Given the description of an element on the screen output the (x, y) to click on. 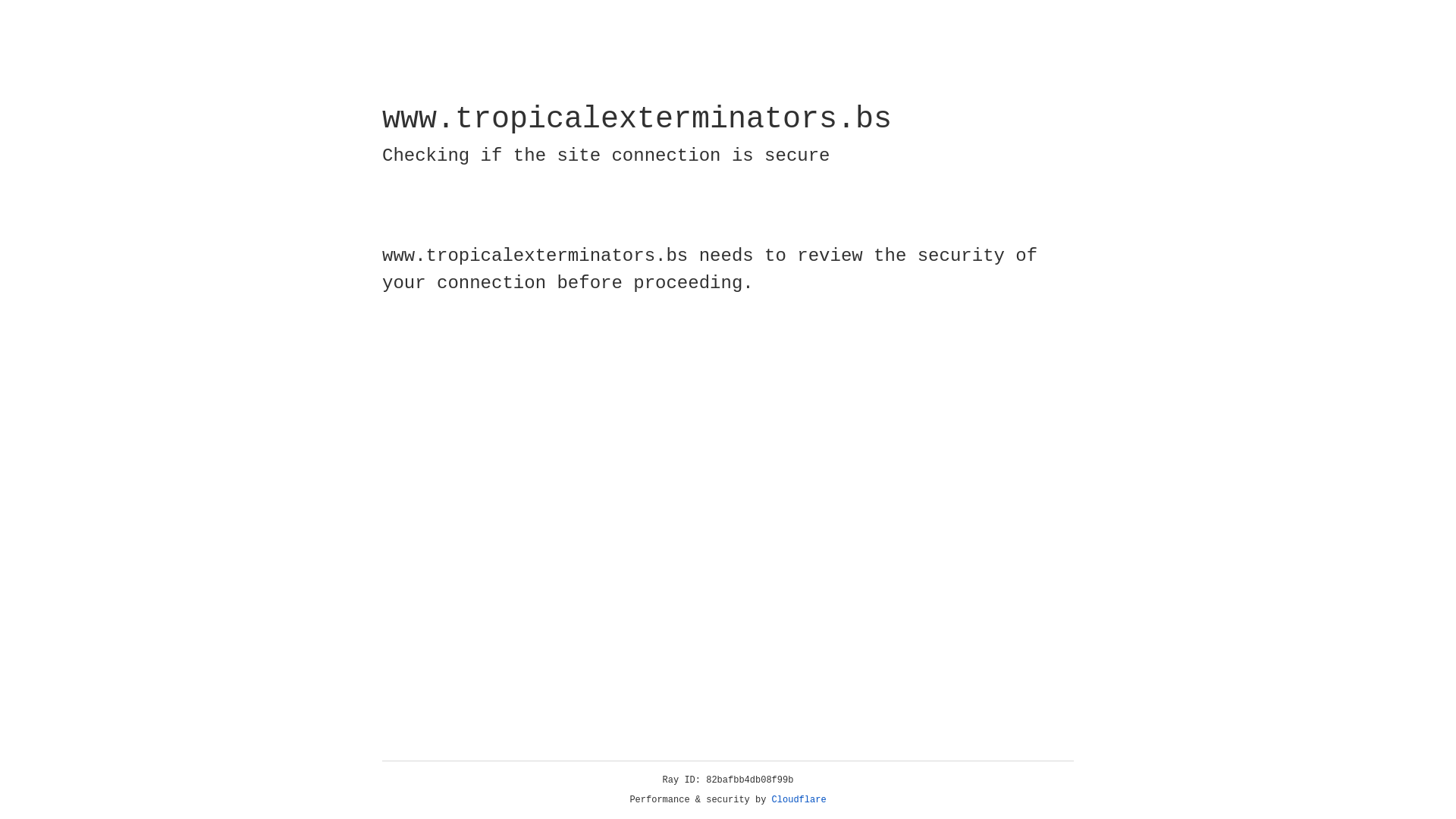
Cloudflare Element type: text (798, 799)
